Given the description of an element on the screen output the (x, y) to click on. 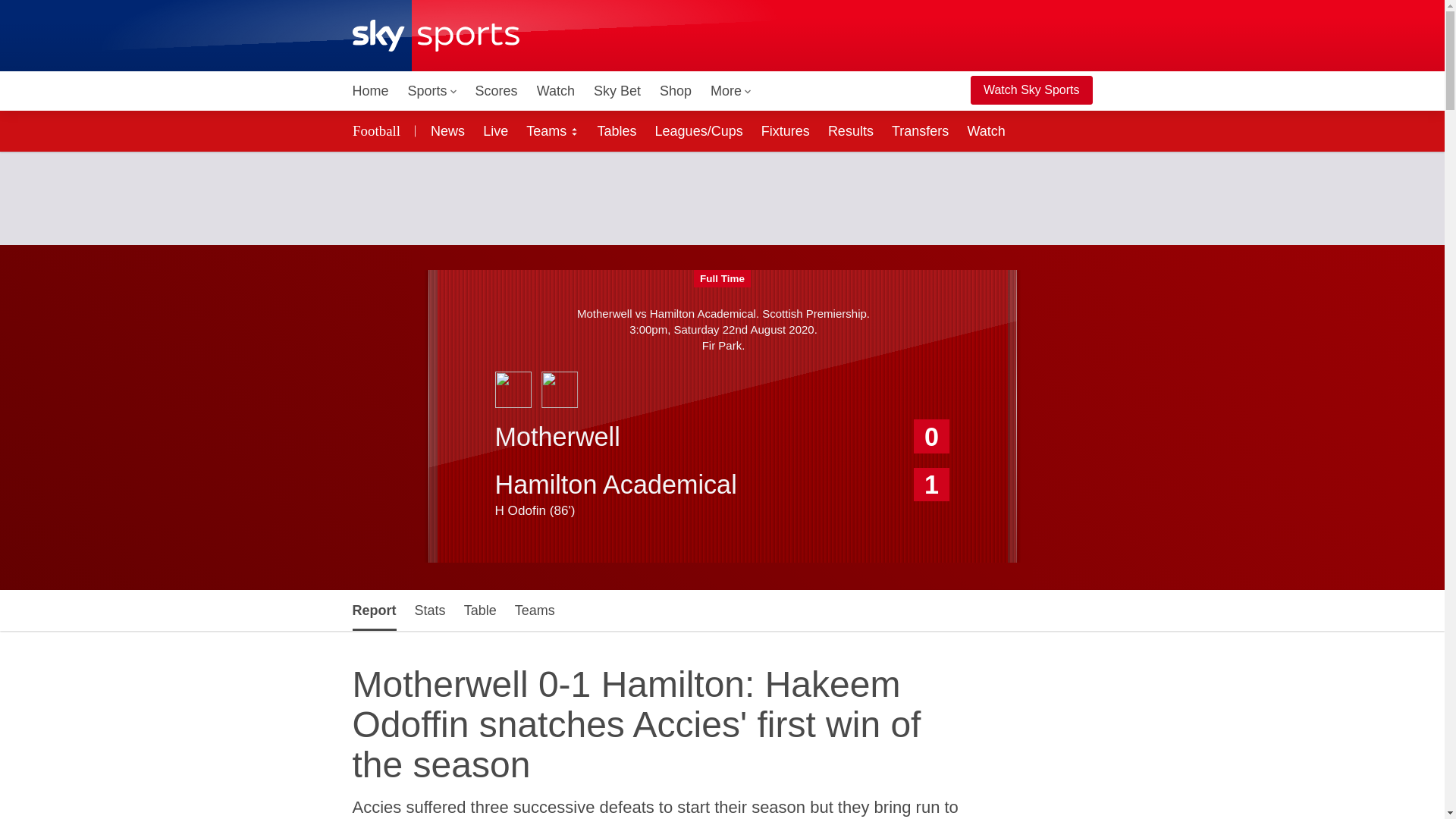
Scores (496, 91)
Teams (552, 130)
Watch Sky Sports (1032, 90)
Sports (432, 91)
Watch (555, 91)
Live (495, 130)
Shop (675, 91)
Sky Bet (616, 91)
News (444, 130)
Football (378, 130)
More (730, 91)
Home (369, 91)
